Given the description of an element on the screen output the (x, y) to click on. 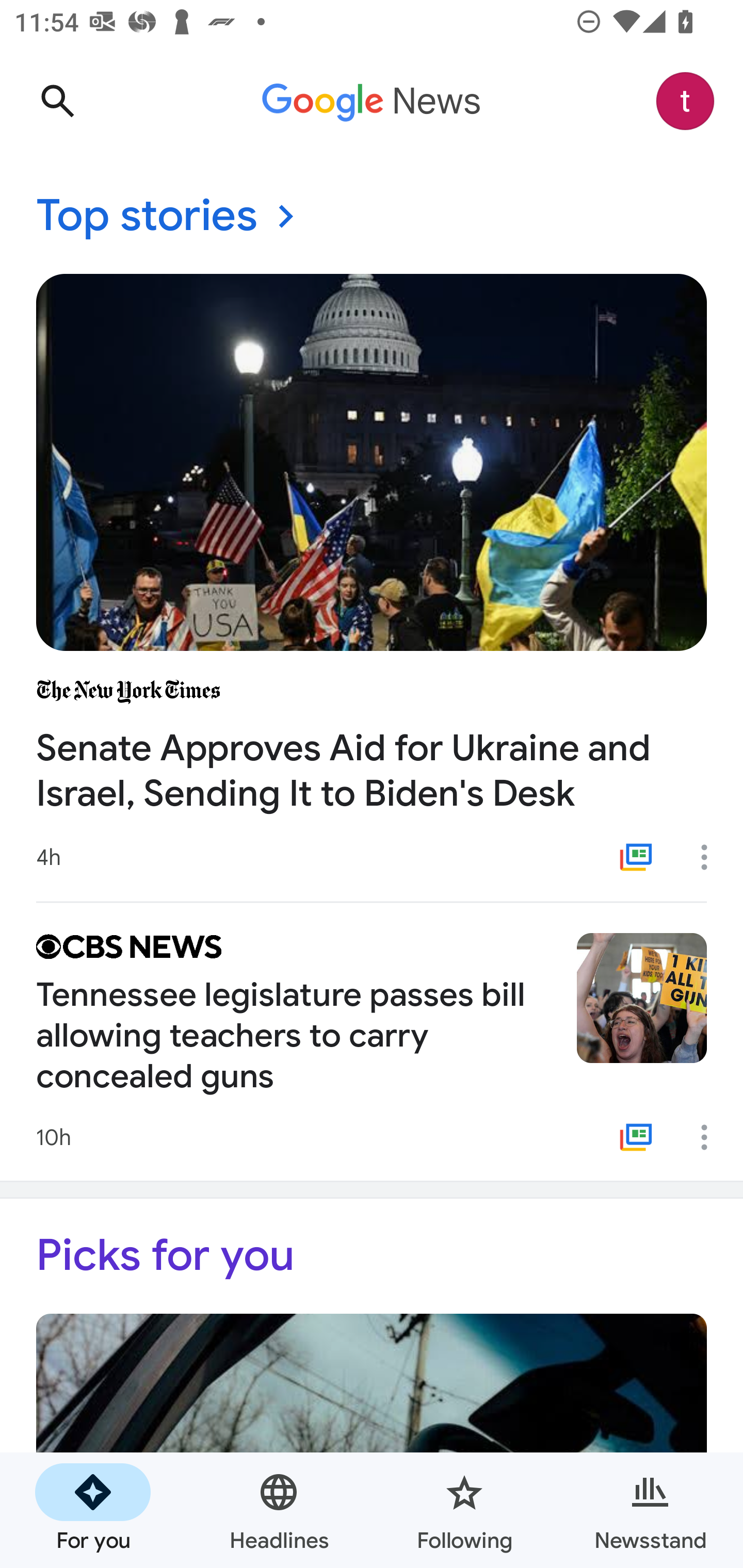
Search (57, 100)
Top stories (371, 216)
More options (711, 856)
More options (711, 1137)
For you (92, 1509)
Headlines (278, 1509)
Following (464, 1509)
Newsstand (650, 1509)
